Given the description of an element on the screen output the (x, y) to click on. 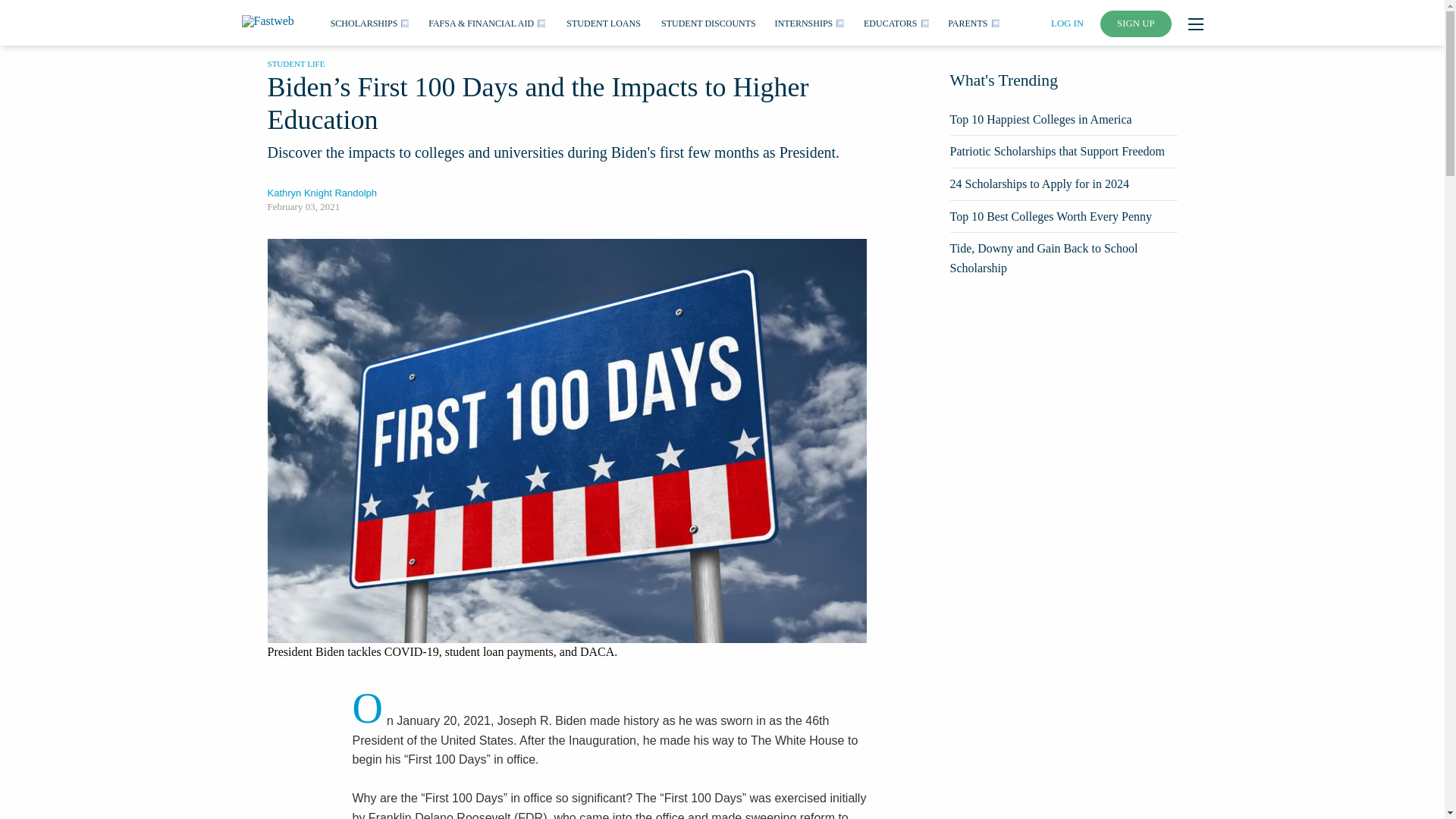
STUDENT DISCOUNTS (708, 22)
LOG IN (1067, 23)
SIGN UP (1136, 23)
STUDENT LOANS (603, 22)
